Given the description of an element on the screen output the (x, y) to click on. 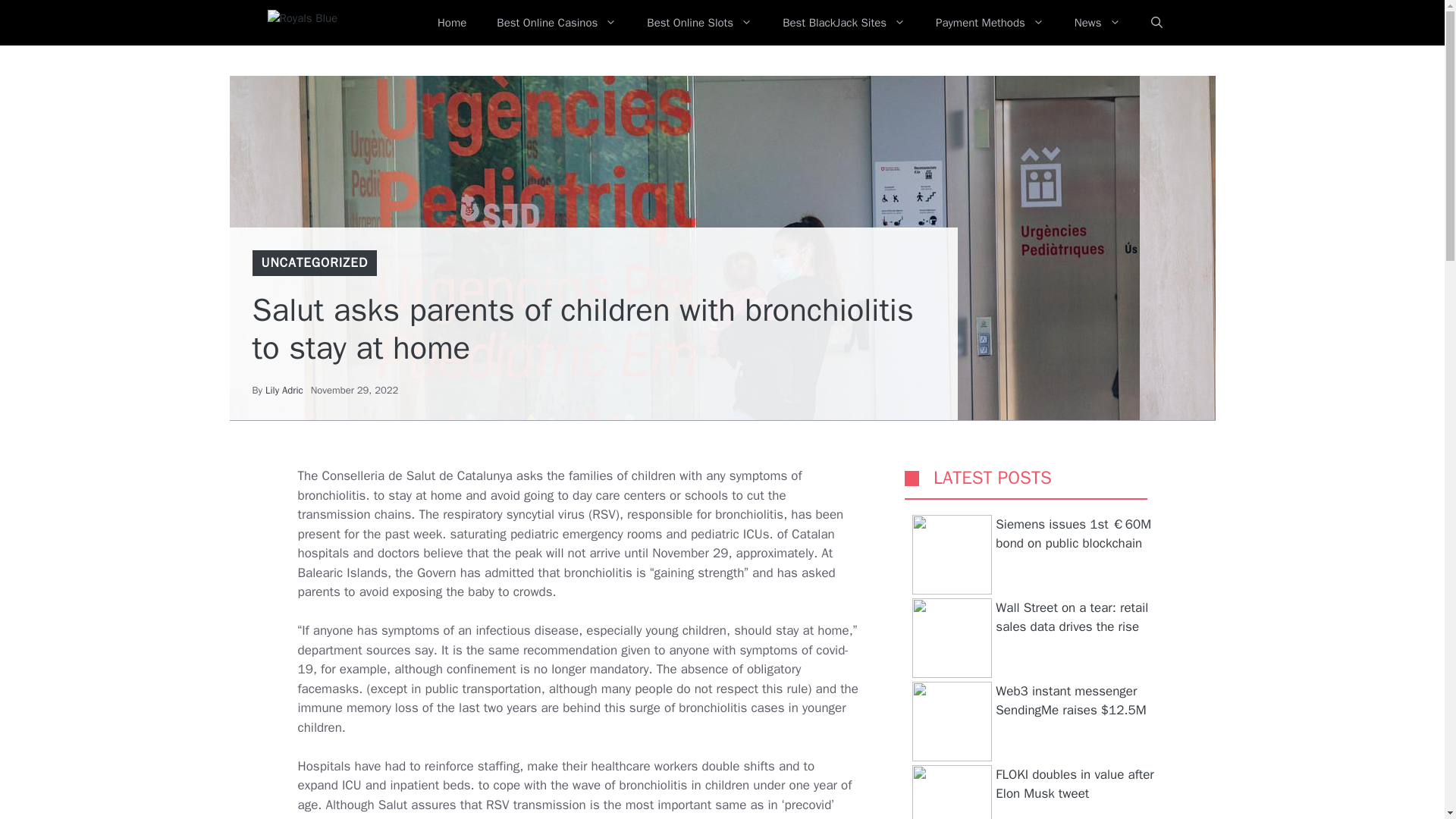
Lily Adric (283, 390)
Best BlackJack Sites (843, 22)
Best Online Slots (699, 22)
News (1097, 22)
Payment Methods (989, 22)
Royals Blue (331, 22)
Best Online Casinos (556, 22)
UNCATEGORIZED (314, 262)
SORRY, YOUR BROWSER DOES NOT SUPPORT INLINE SVG. (911, 477)
Home (451, 22)
